Given the description of an element on the screen output the (x, y) to click on. 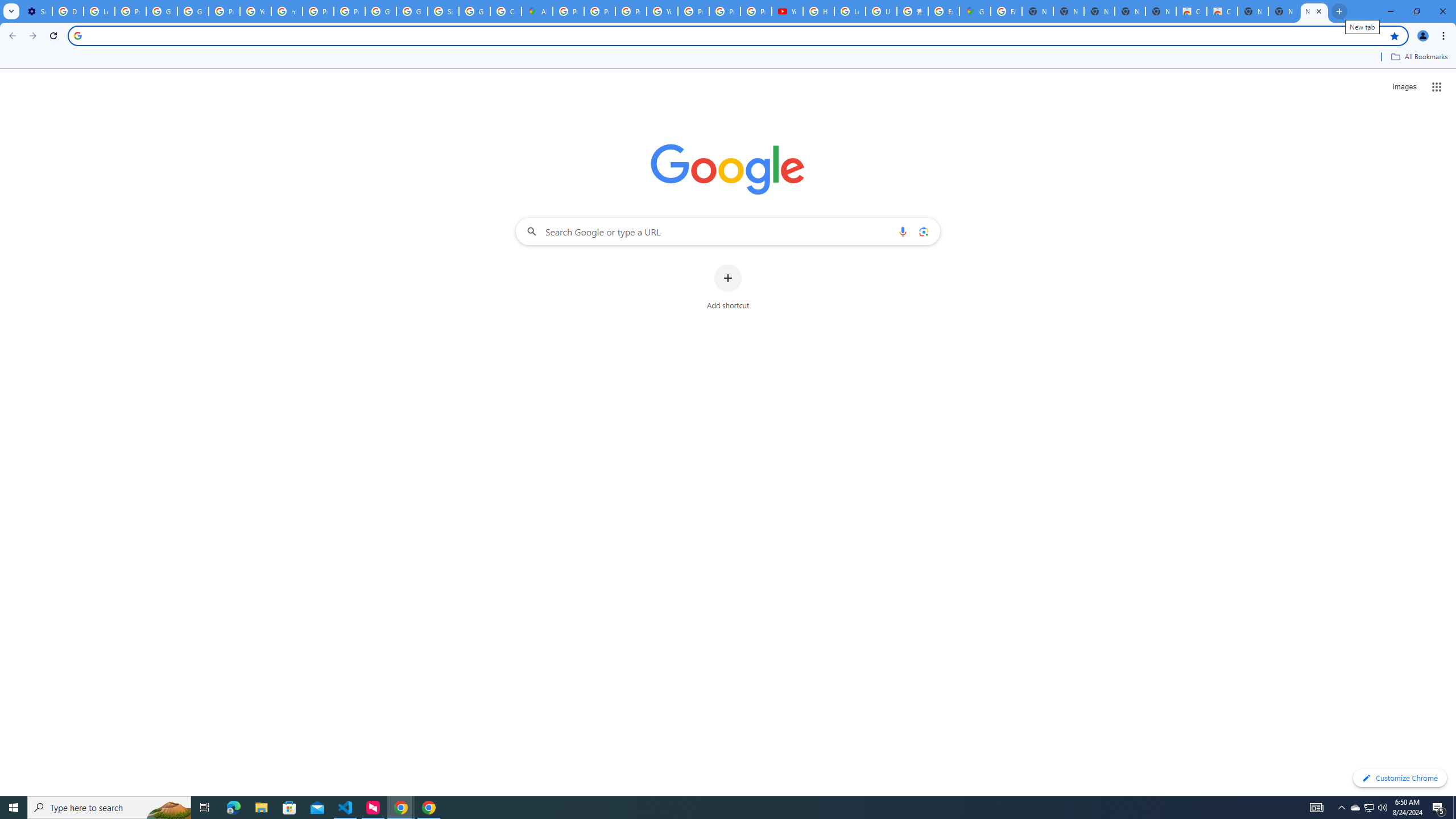
Privacy Help Center - Policies Help (318, 11)
Privacy Checkup (756, 11)
